Given the description of an element on the screen output the (x, y) to click on. 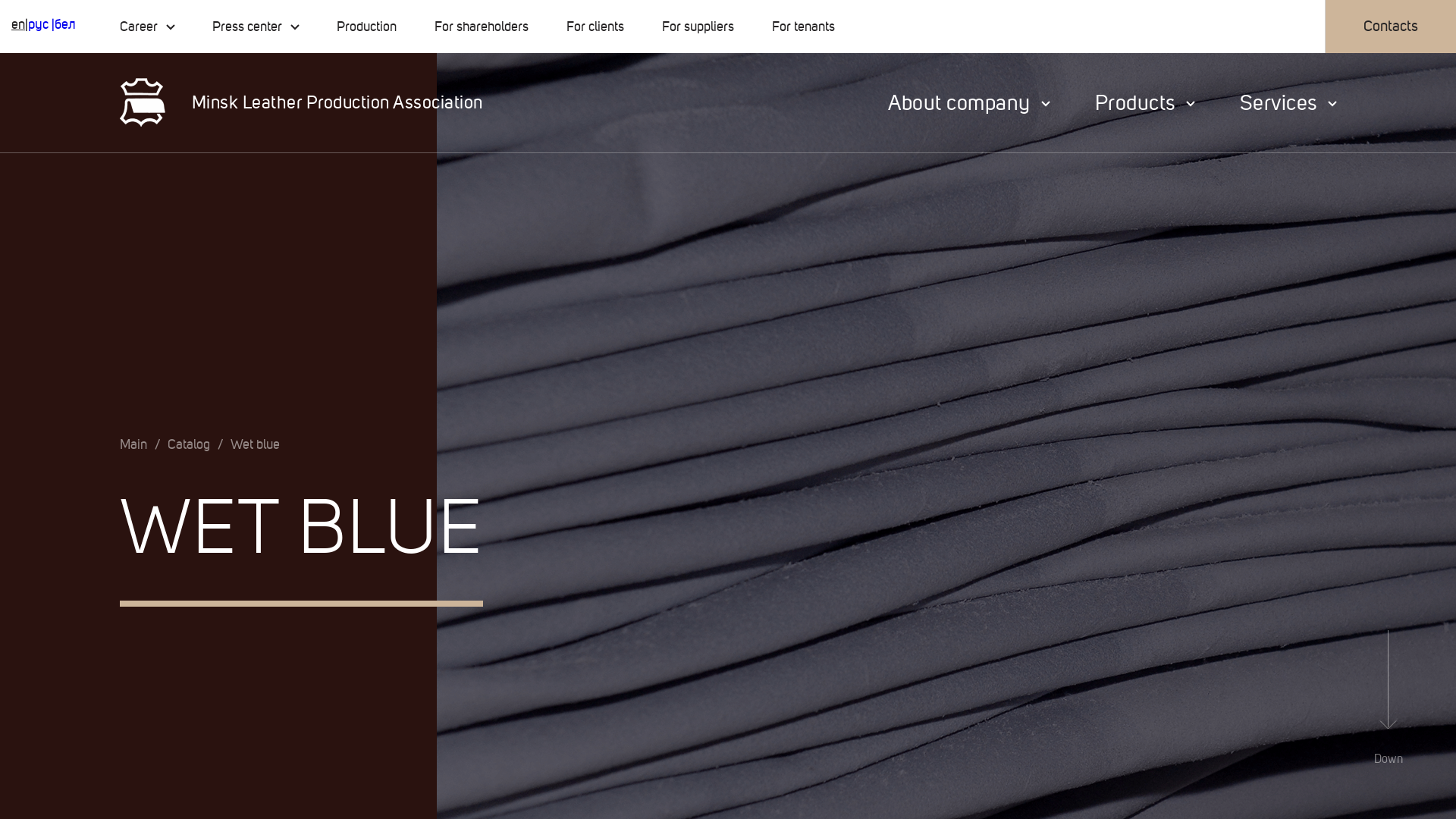
For clients Element type: text (595, 26)
For suppliers Element type: text (698, 26)
For tenants Element type: text (802, 26)
Production Element type: text (366, 26)
Minsk Leather Production Association Element type: text (312, 102)
Products Element type: text (1144, 103)
Career Element type: text (146, 26)
Send message Element type: text (581, 746)
Main Element type: text (133, 444)
For shareholders Element type: text (481, 26)
Press center Element type: text (255, 26)
About company Element type: text (968, 103)
Down Element type: text (1388, 697)
Catalog Element type: text (188, 444)
Services Element type: text (1287, 103)
